Given the description of an element on the screen output the (x, y) to click on. 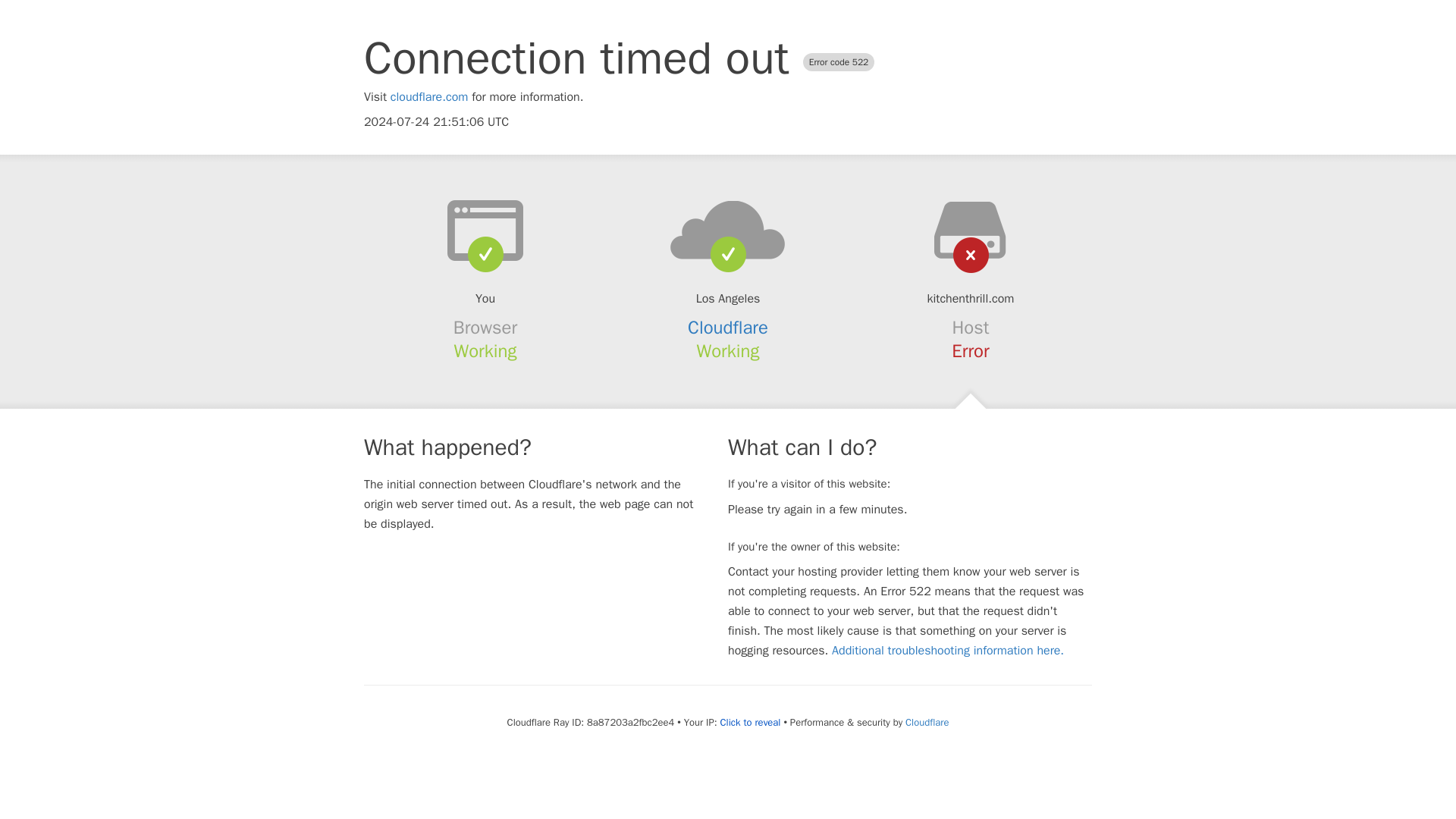
Click to reveal (750, 722)
Additional troubleshooting information here. (947, 650)
cloudflare.com (429, 96)
Cloudflare (927, 721)
Cloudflare (727, 327)
